Given the description of an element on the screen output the (x, y) to click on. 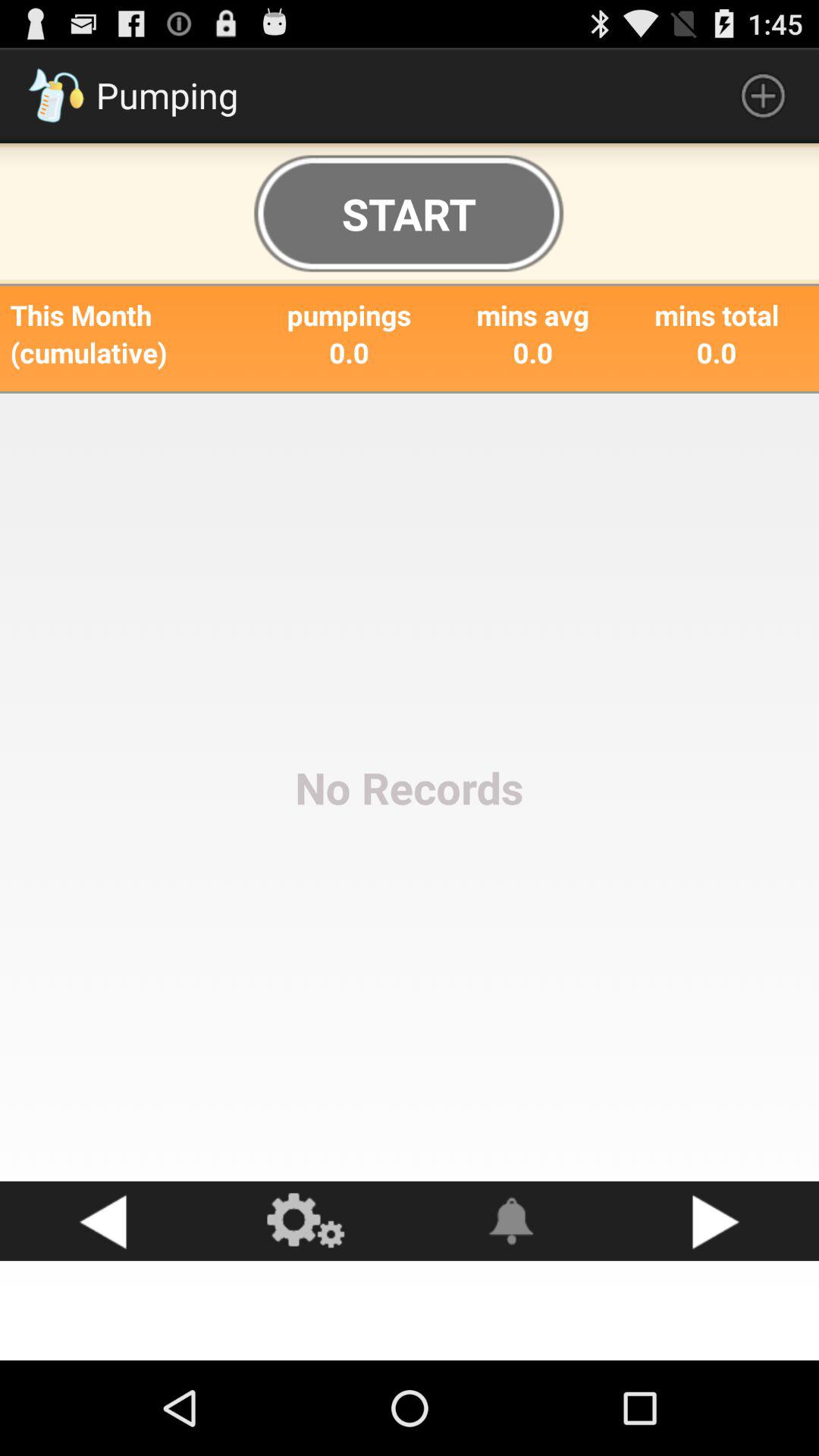
toggle alarm (511, 1220)
